Given the description of an element on the screen output the (x, y) to click on. 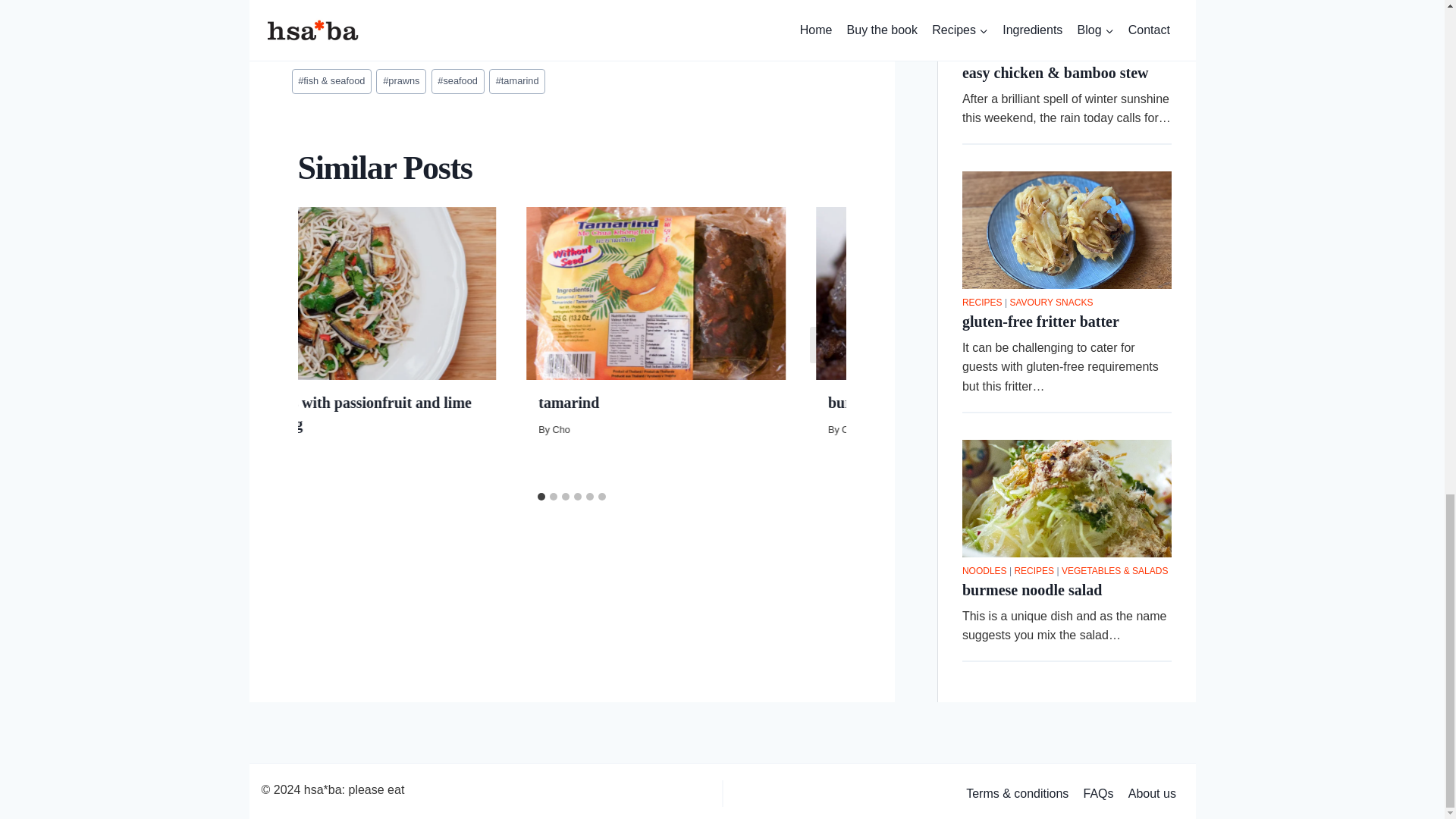
seafood (457, 81)
prawns (400, 81)
tamarind (516, 81)
